Given the description of an element on the screen output the (x, y) to click on. 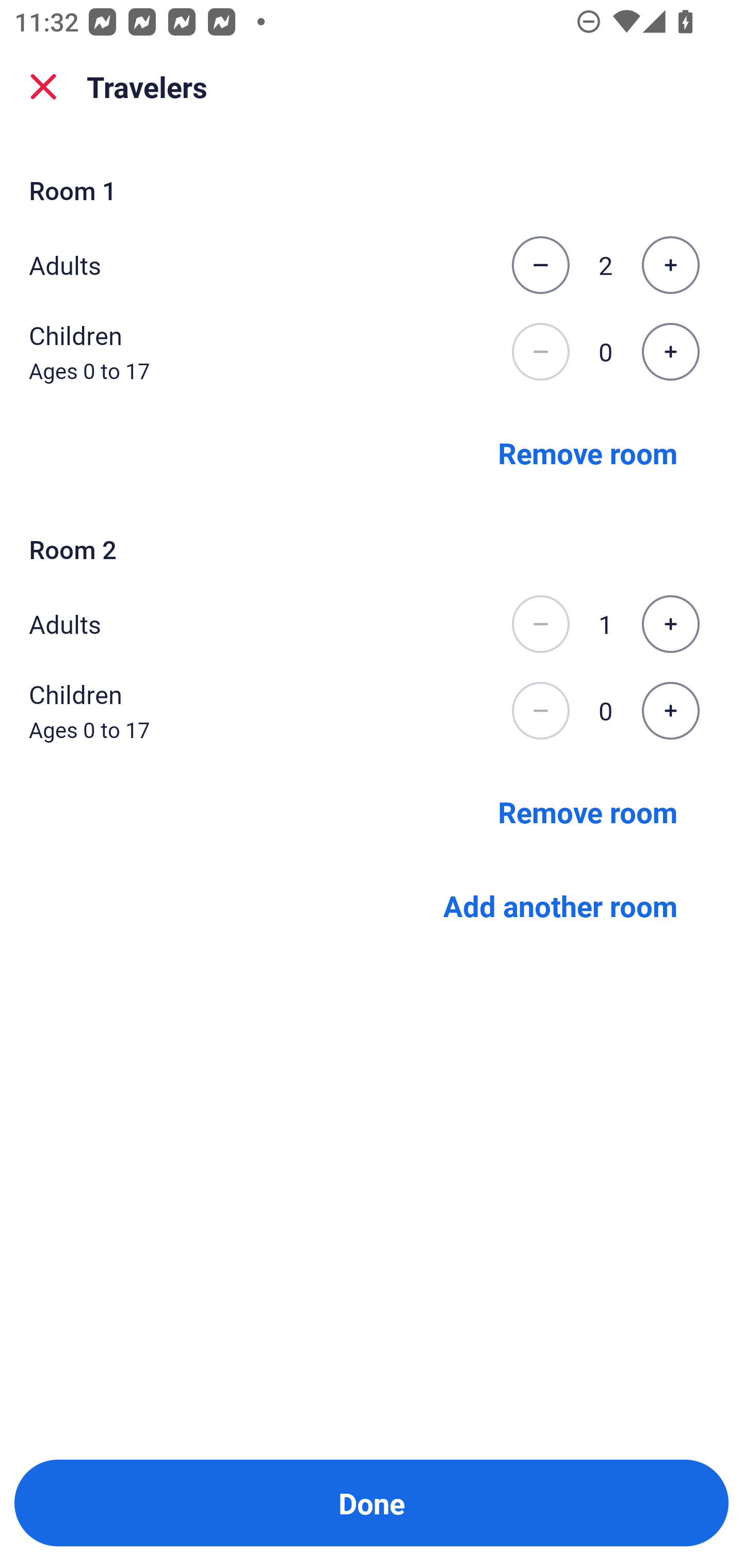
close (43, 86)
Decrease the number of adults (540, 264)
Increase the number of adults (670, 264)
Decrease the number of children (540, 351)
Increase the number of children (670, 351)
Remove room (588, 452)
Decrease the number of adults (540, 623)
Increase the number of adults (670, 623)
Decrease the number of children (540, 710)
Increase the number of children (670, 710)
Remove room (588, 811)
Add another room (560, 905)
Done (371, 1502)
